Given the description of an element on the screen output the (x, y) to click on. 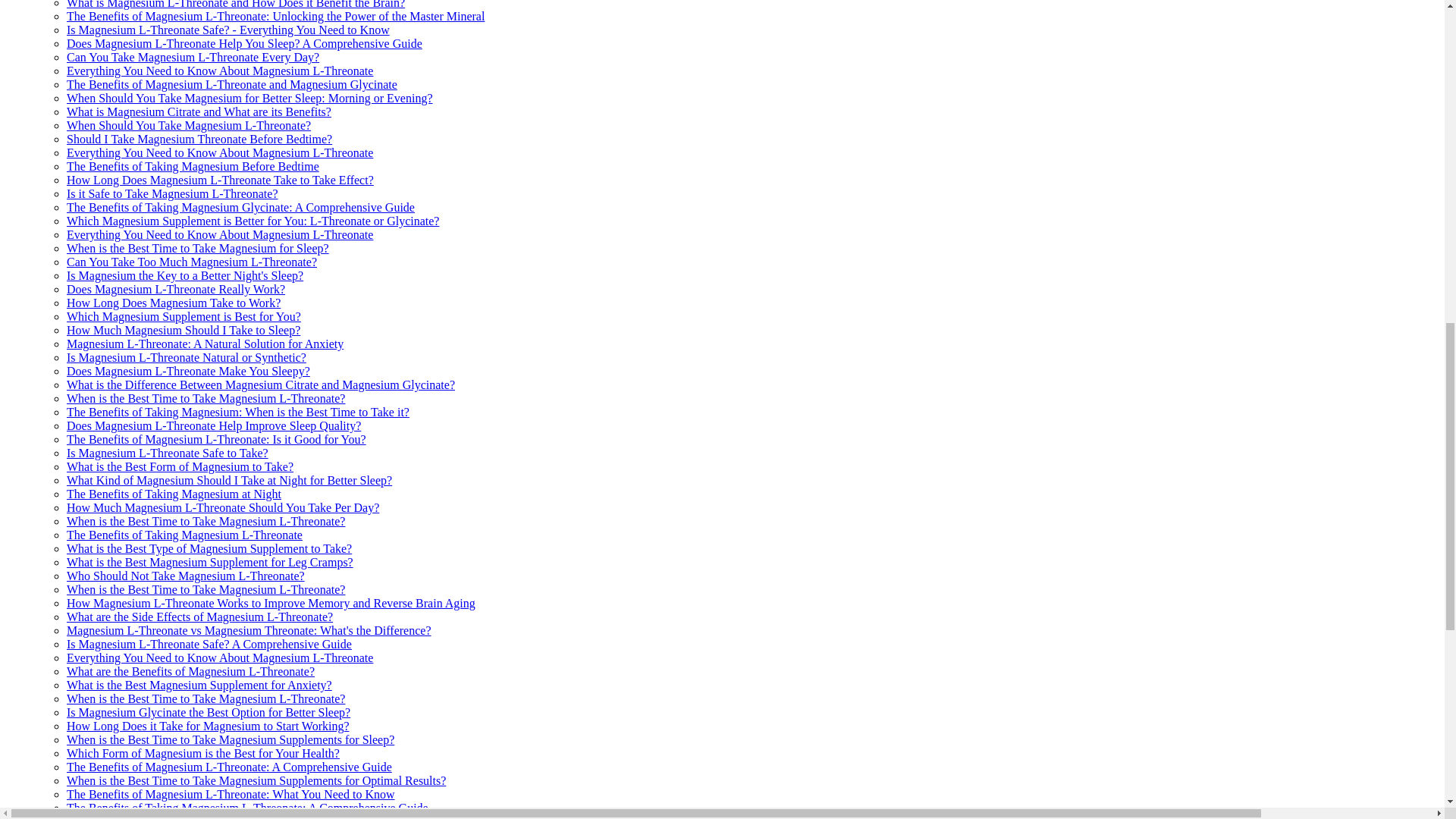
Everything You Need to Know About Magnesium L-Threonate (219, 234)
How Long Does Magnesium L-Threonate Take to Take Effect? (220, 179)
Everything You Need to Know About Magnesium L-Threonate (219, 152)
Is Magnesium L-Threonate Safe? - Everything You Need to Know (228, 29)
When is the Best Time to Take Magnesium for Sleep? (197, 247)
Is it Safe to Take Magnesium L-Threonate? (172, 193)
Is Magnesium the Key to a Better Night's Sleep? (184, 275)
Everything You Need to Know About Magnesium L-Threonate (219, 70)
Can You Take Too Much Magnesium L-Threonate? (191, 261)
Can You Take Magnesium L-Threonate Every Day? (192, 56)
